Given the description of an element on the screen output the (x, y) to click on. 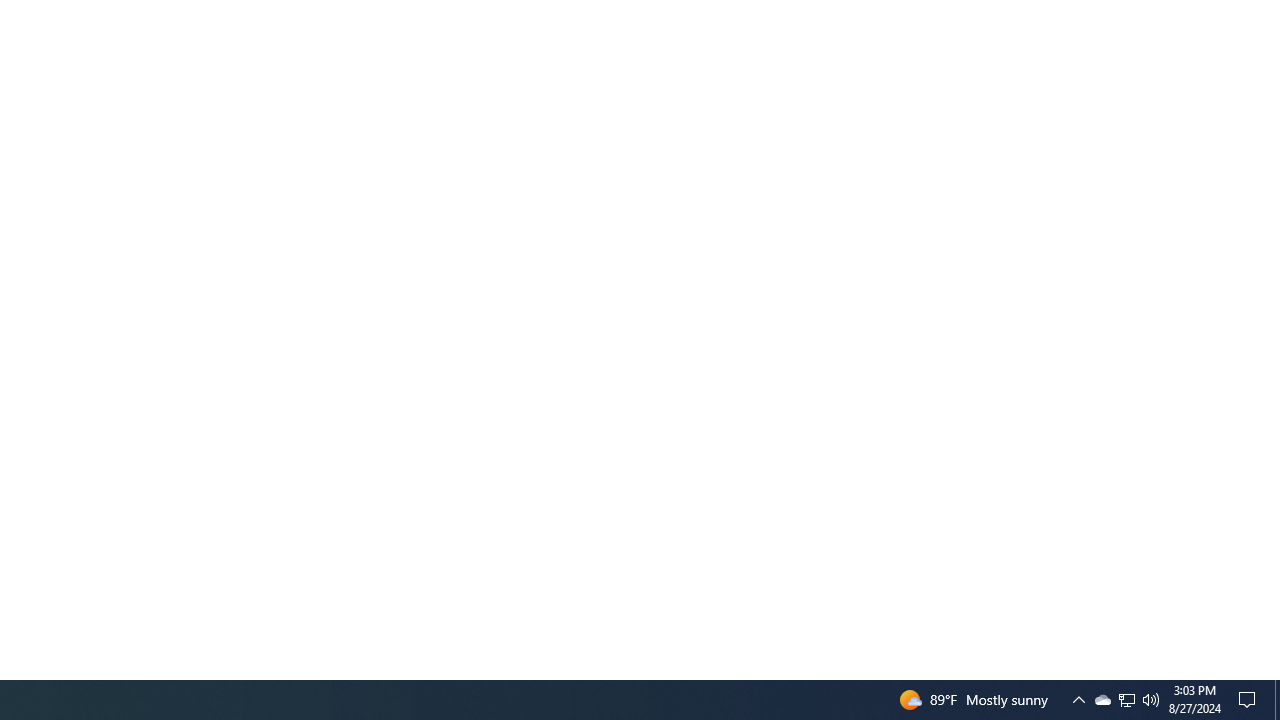
Action Center, No new notifications (1250, 699)
Notification Chevron (1078, 699)
Show desktop (1277, 699)
Q2790: 100% (1102, 699)
User Promoted Notification Area (1151, 699)
